Given the description of an element on the screen output the (x, y) to click on. 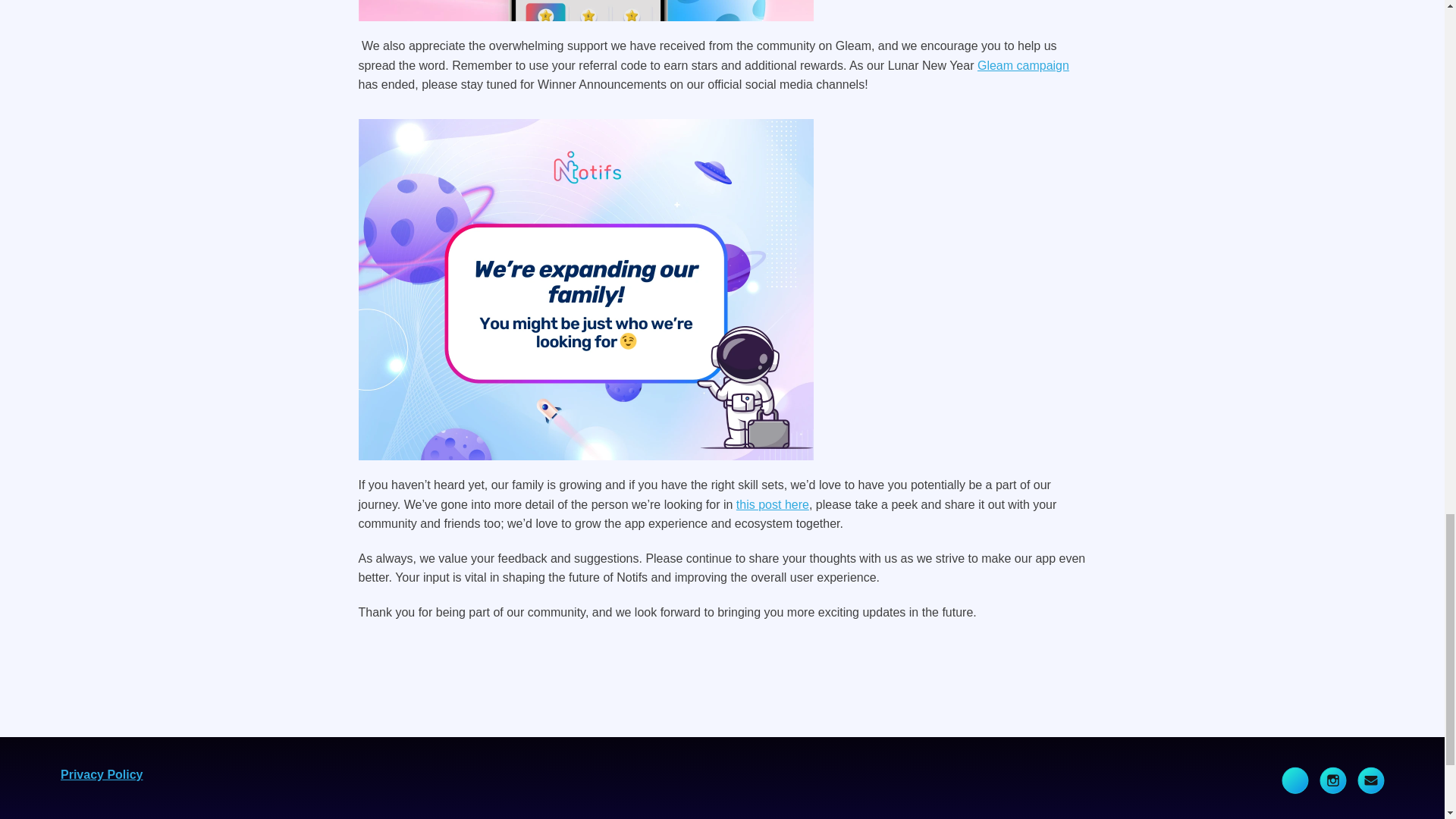
this post here (772, 503)
Gleam campaign (1022, 65)
Privacy Policy (101, 774)
